Given the description of an element on the screen output the (x, y) to click on. 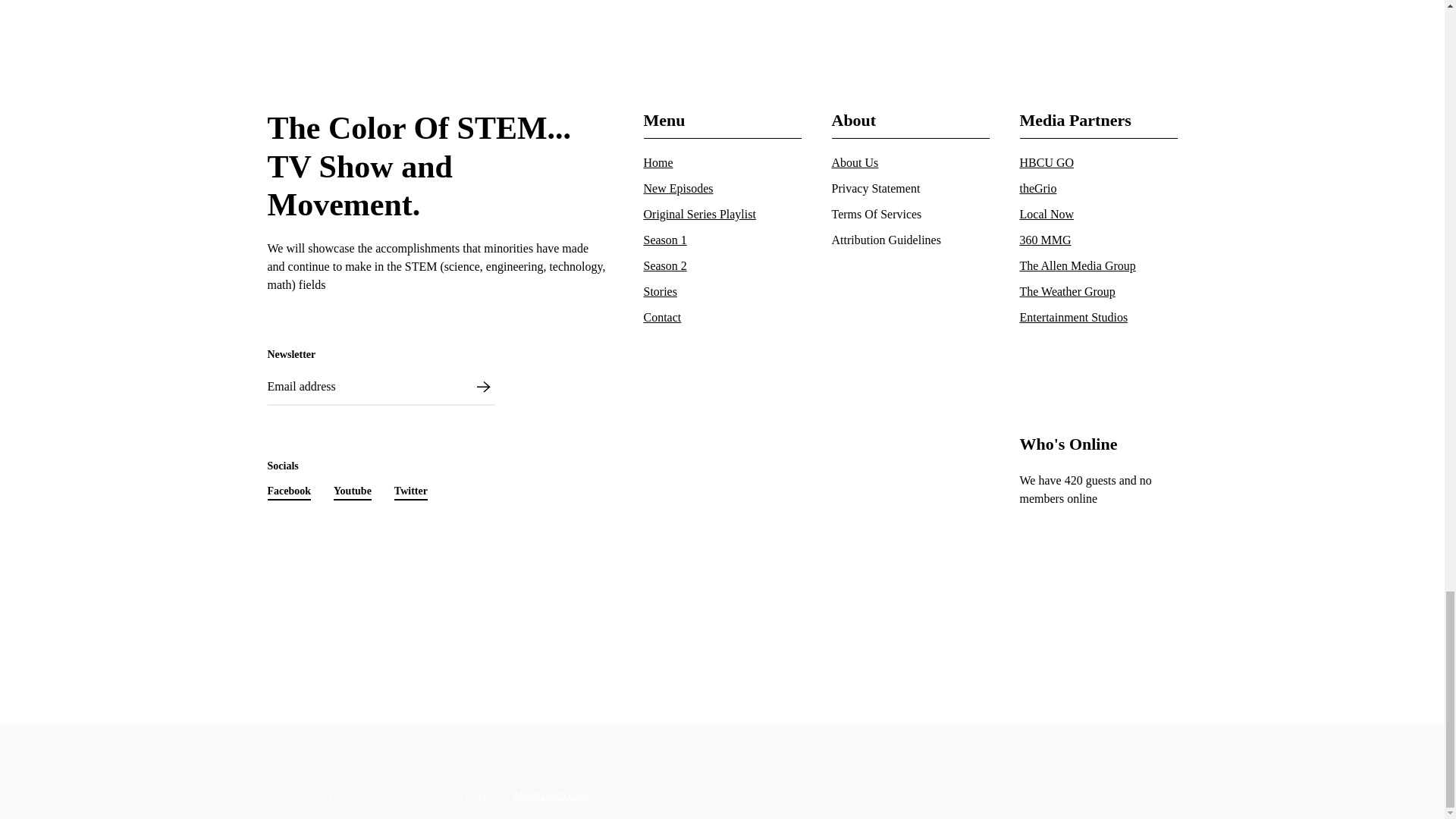
Facebook (418, 165)
Youtube (288, 491)
